Given the description of an element on the screen output the (x, y) to click on. 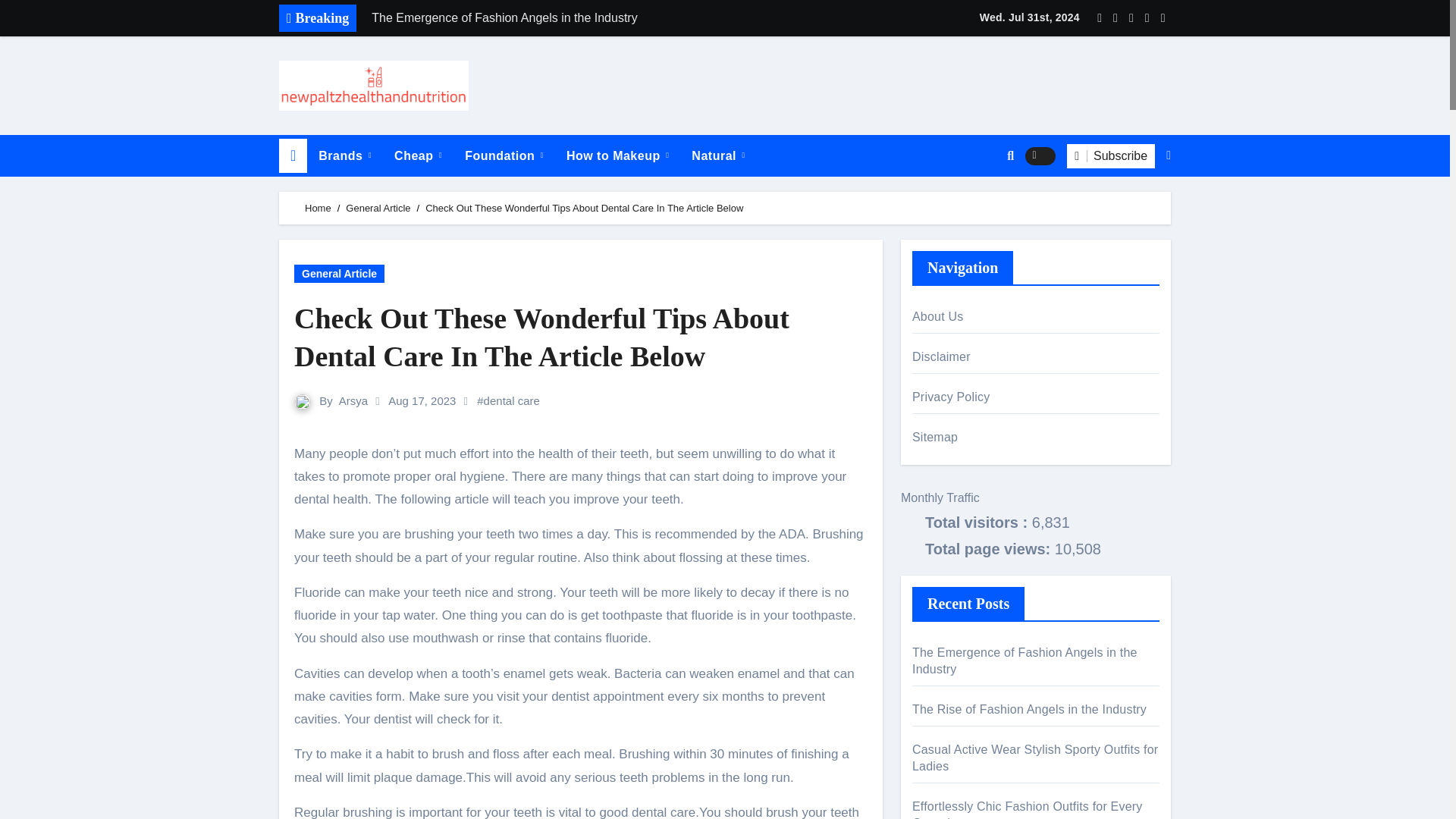
Brands (344, 155)
Foundation (503, 155)
How to Makeup (616, 155)
Brands (344, 155)
Cheap (417, 155)
Cheap (417, 155)
The Emergence of Fashion Angels in the Industry (574, 18)
Foundation (503, 155)
